Given the description of an element on the screen output the (x, y) to click on. 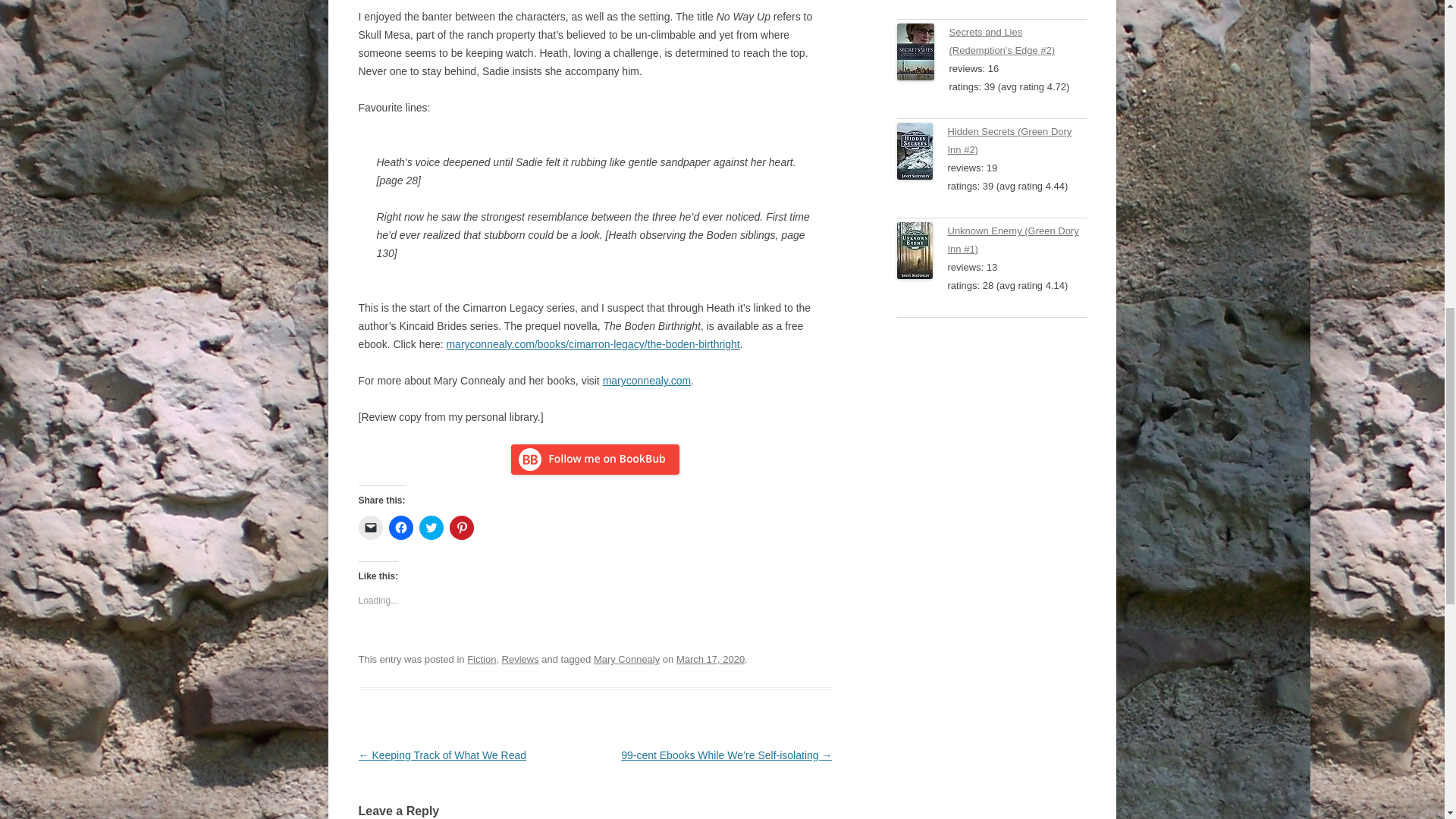
Click to share on Pinterest (460, 527)
Click to share on Twitter (430, 527)
Click to share on Facebook (400, 527)
6:00 am (710, 659)
Click to email a link to a friend (369, 527)
